Given the description of an element on the screen output the (x, y) to click on. 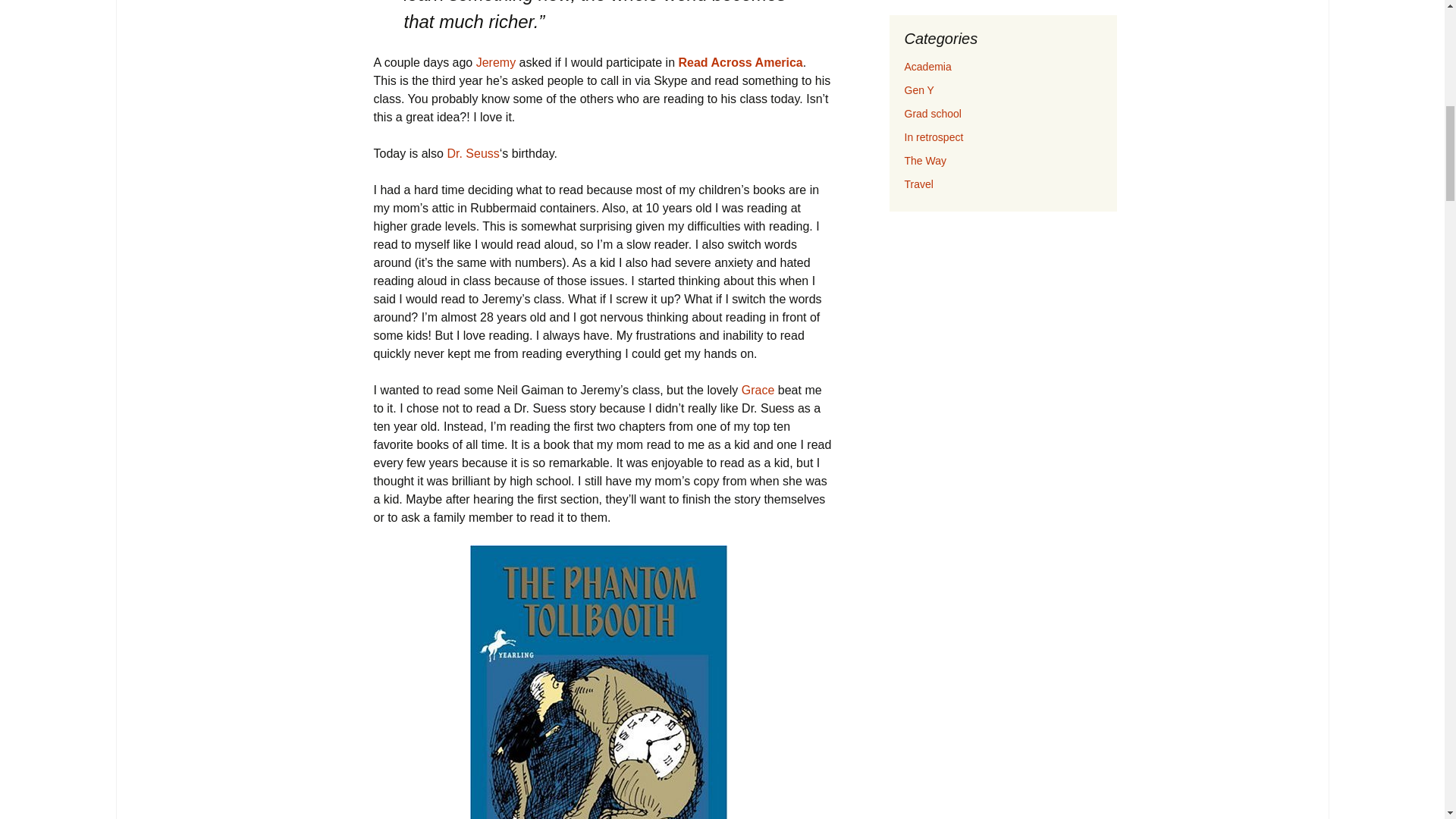
Dr. Seuss (472, 153)
phanthom1 (599, 682)
Read Across America (740, 62)
Grace (757, 390)
Jeremy (495, 62)
